Given the description of an element on the screen output the (x, y) to click on. 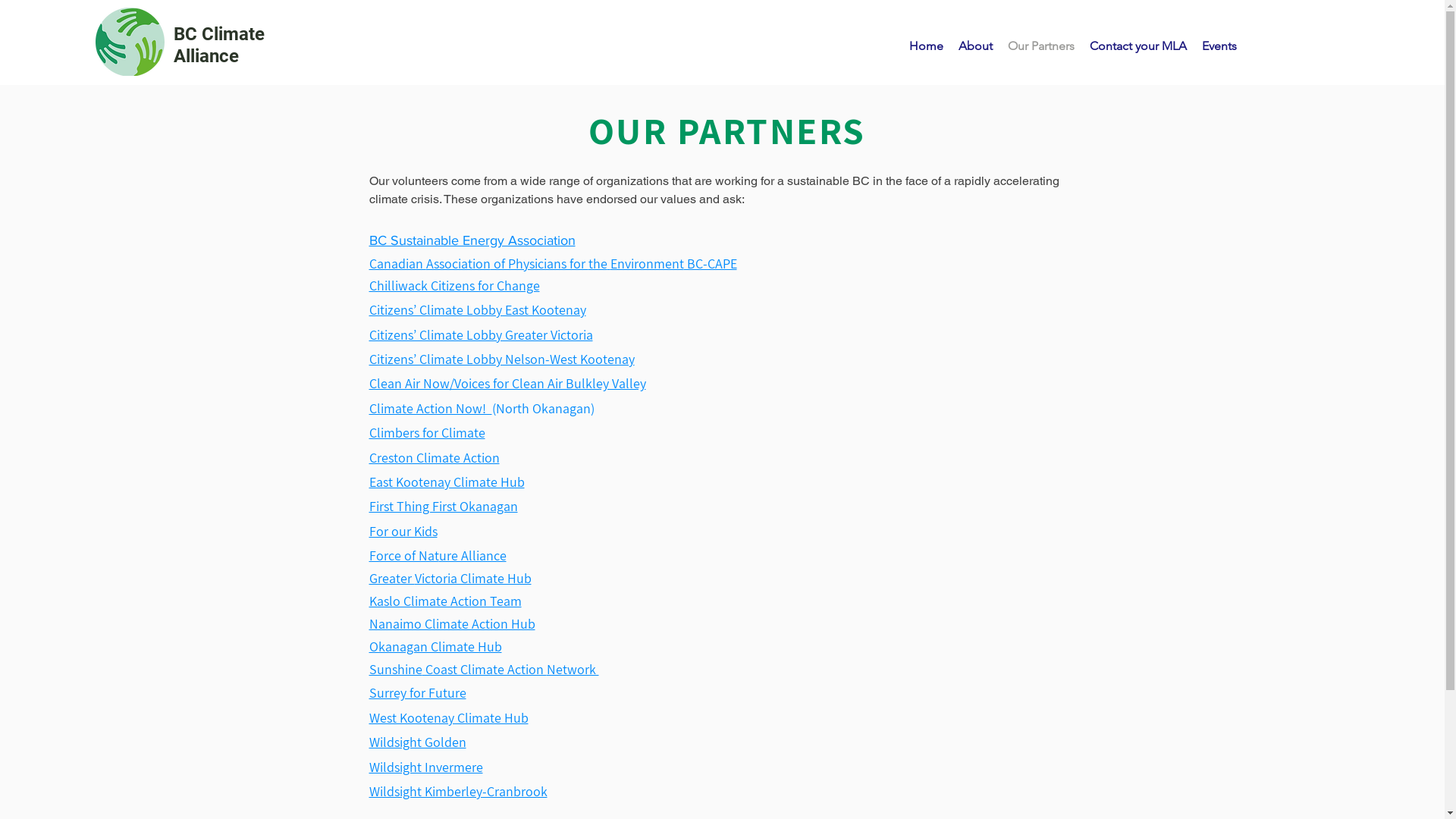
For our Kids Element type: text (402, 530)
Surrey for Future Element type: text (416, 692)
04BCCA logo submark.png Element type: hover (129, 41)
Contact your MLA Element type: text (1138, 46)
Events Element type: text (1219, 46)
values and ask Element type: text (699, 198)
Our Partners Element type: text (1041, 46)
Wildsight Invermere Element type: text (425, 766)
First Thing First Okanagan Element type: text (442, 505)
Force of Nature Alliance Element type: text (436, 555)
Embedded Content Element type: hover (885, 504)
About Element type: text (975, 46)
Wildsight Golden Element type: text (416, 741)
Okanagan Climate Hub Element type: text (434, 646)
Climate Action Now!   Element type: text (429, 408)
Home Element type: text (925, 46)
Nanaimo Climate Action Hub Element type: text (451, 624)
Sunshine Coast Climate Action Network  Element type: text (483, 669)
Creston Climate Action Element type: text (433, 457)
Climbers for Climate Element type: text (426, 432)
Wildsight Kimberley-Cranbrook Element type: text (457, 791)
BC Sustainable Energy Association Element type: text (471, 239)
Clean Air Now/Voices for Clean Air Bulkley Valley Element type: text (506, 383)
East Kootenay Climate Hub Element type: text (446, 481)
Greater Victoria Climate Hub Element type: text (449, 578)
West Kootenay Climate Hub Element type: text (447, 717)
